Given the description of an element on the screen output the (x, y) to click on. 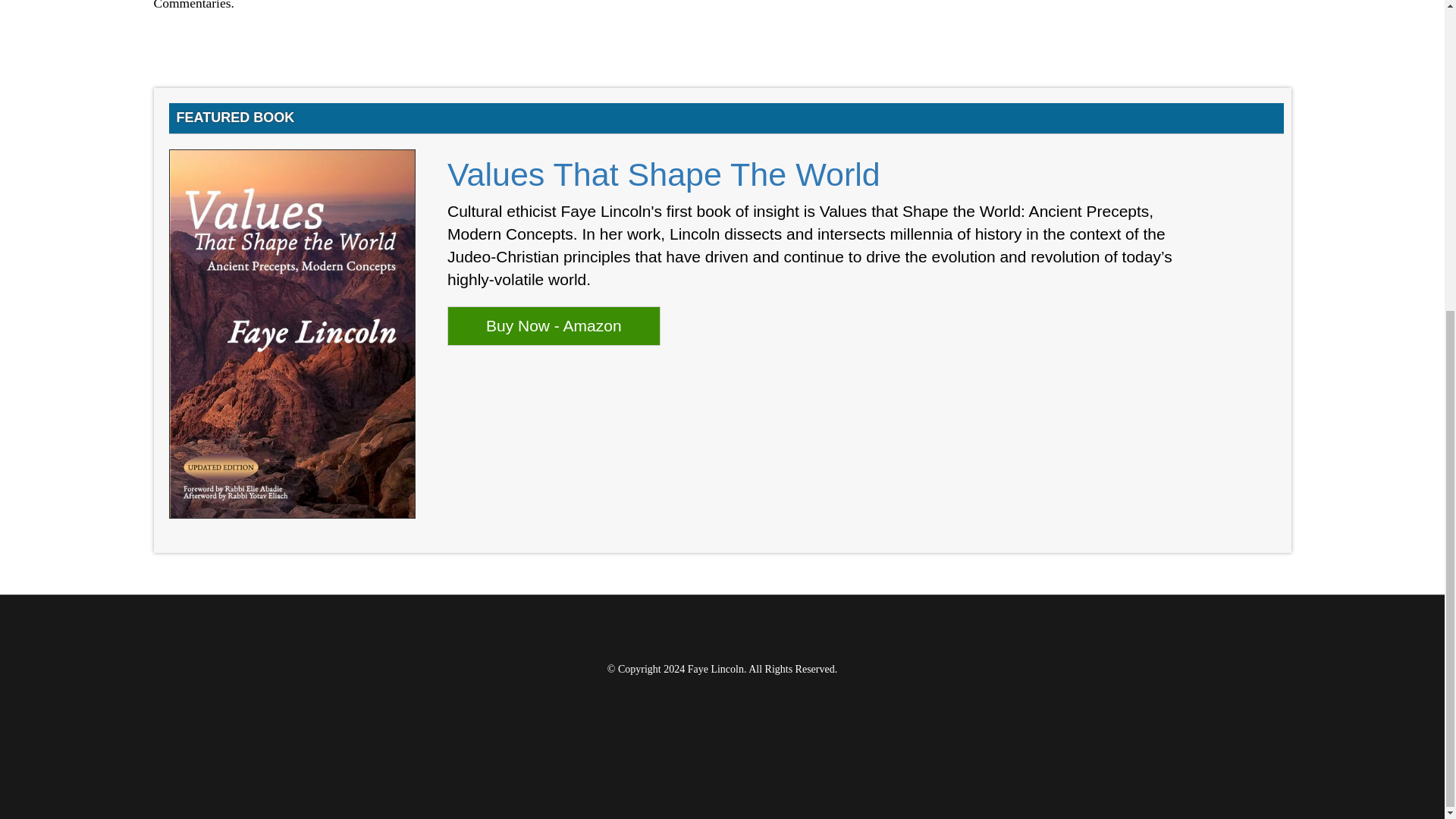
Buy Now - Amazon (553, 325)
Values That Shape The World (663, 174)
